Given the description of an element on the screen output the (x, y) to click on. 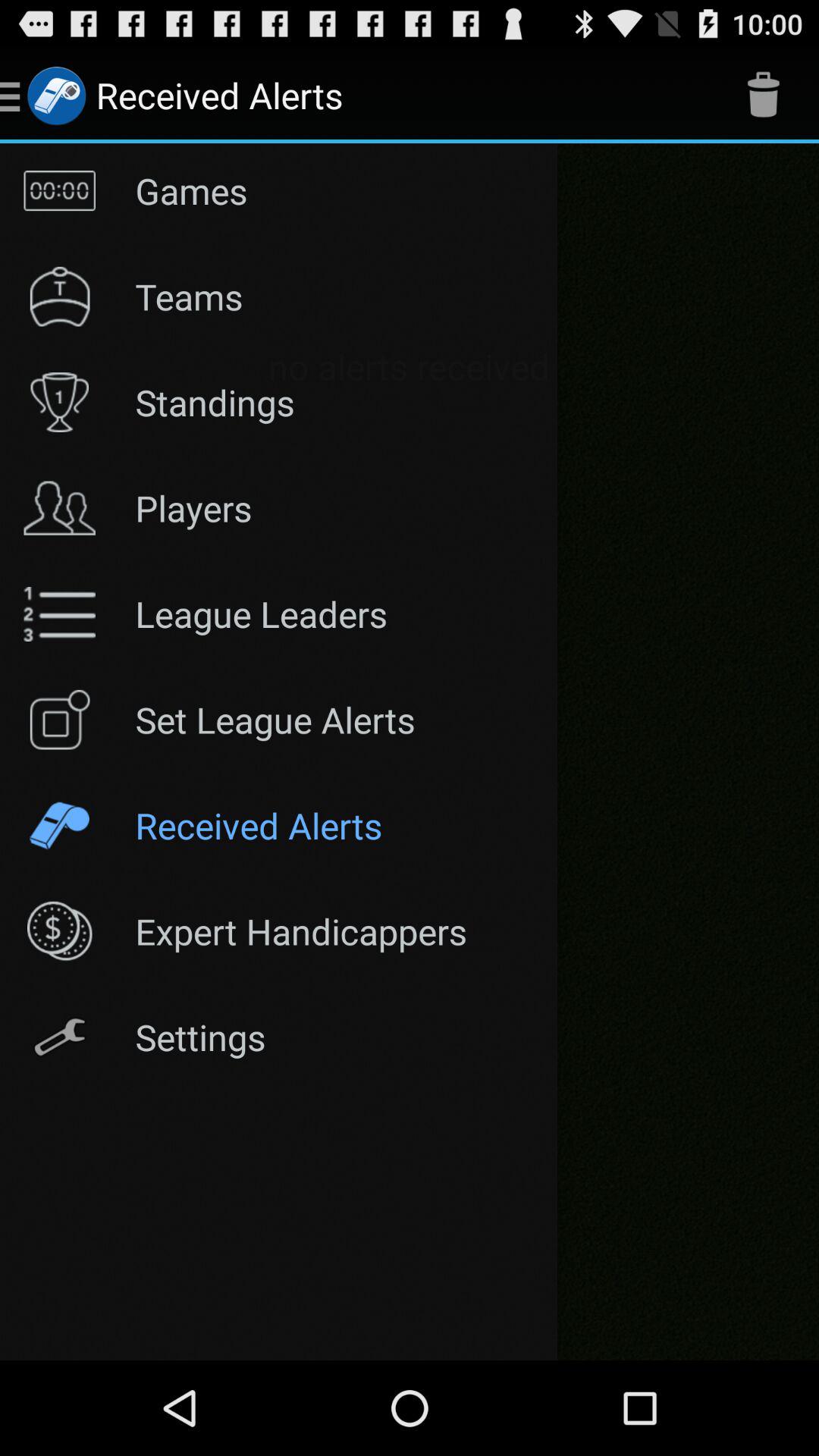
move to left of players (59, 508)
select the symbol left to league leaders (59, 613)
select the symbol beside received alerts (763, 95)
select the icon which is left side of settings (59, 1037)
select the icon left to the expert handicappers (59, 930)
